Given the description of an element on the screen output the (x, y) to click on. 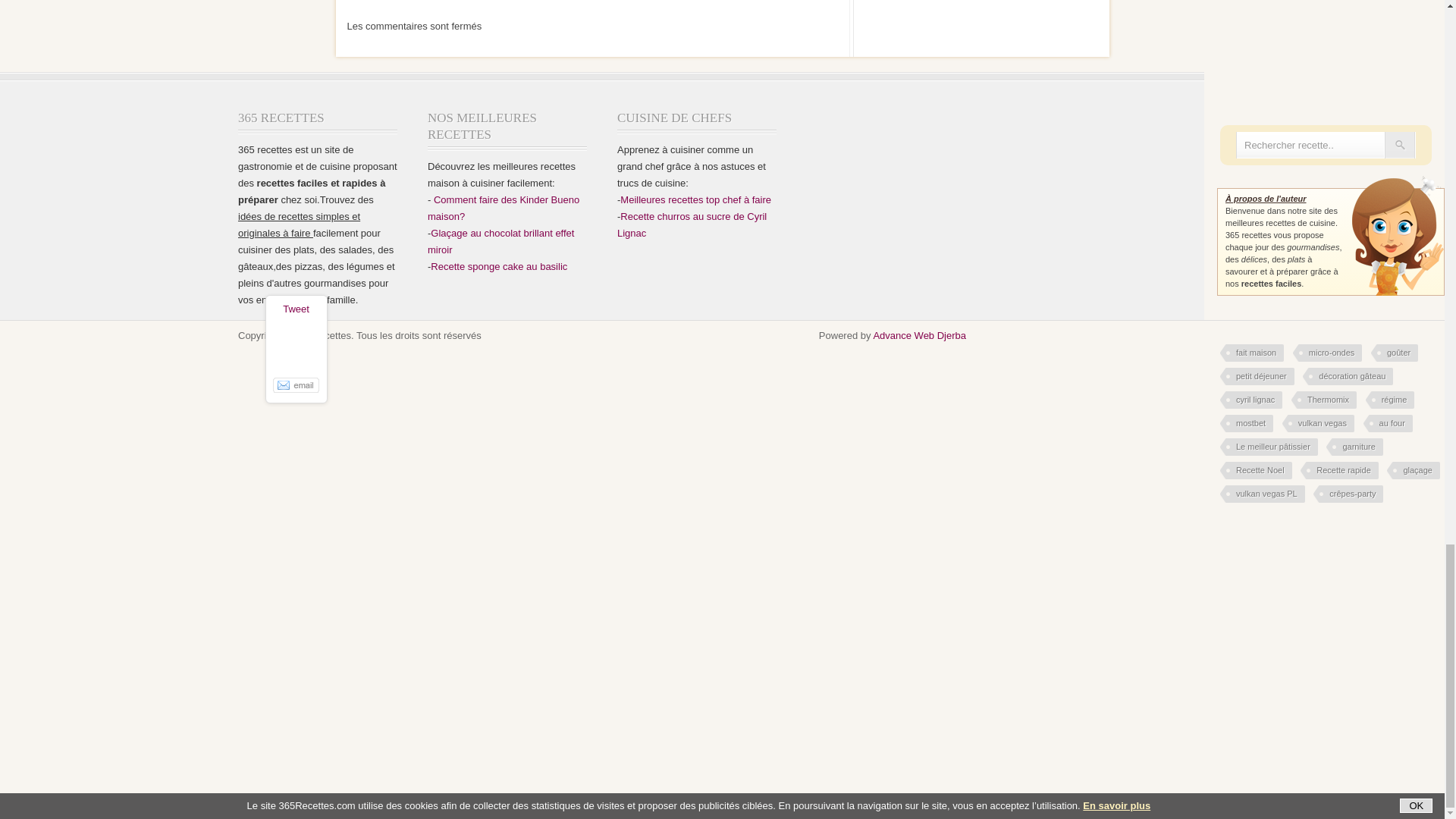
Rechercher recette.. (1310, 144)
